Given the description of an element on the screen output the (x, y) to click on. 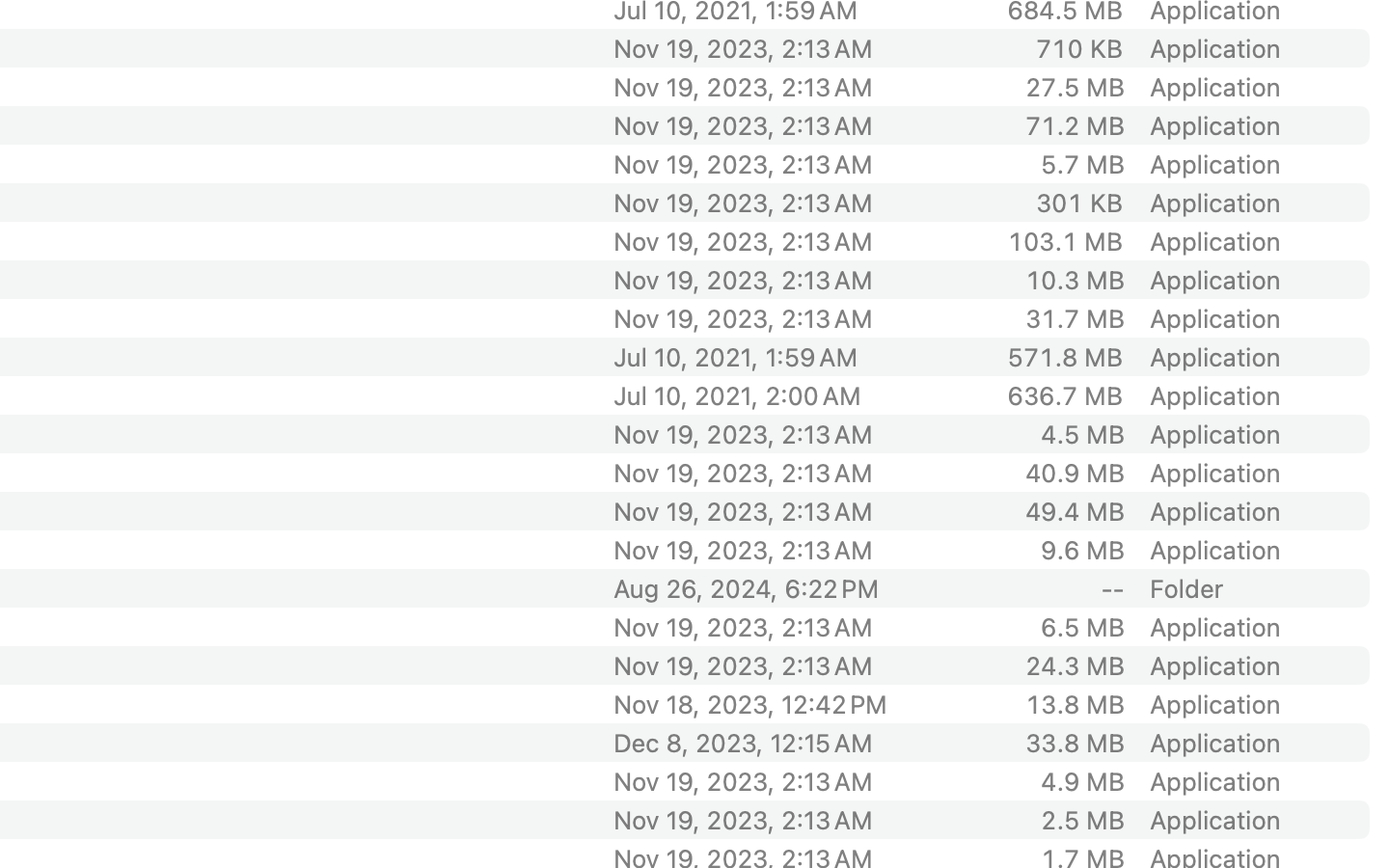
9.6 MB Element type: AXStaticText (1081, 549)
103.1 MB Element type: AXStaticText (1064, 240)
33.8 MB Element type: AXStaticText (1074, 742)
Aug 26, 2024, 6:22 PM Element type: AXStaticText (774, 587)
301 KB Element type: AXStaticText (1079, 202)
